Given the description of an element on the screen output the (x, y) to click on. 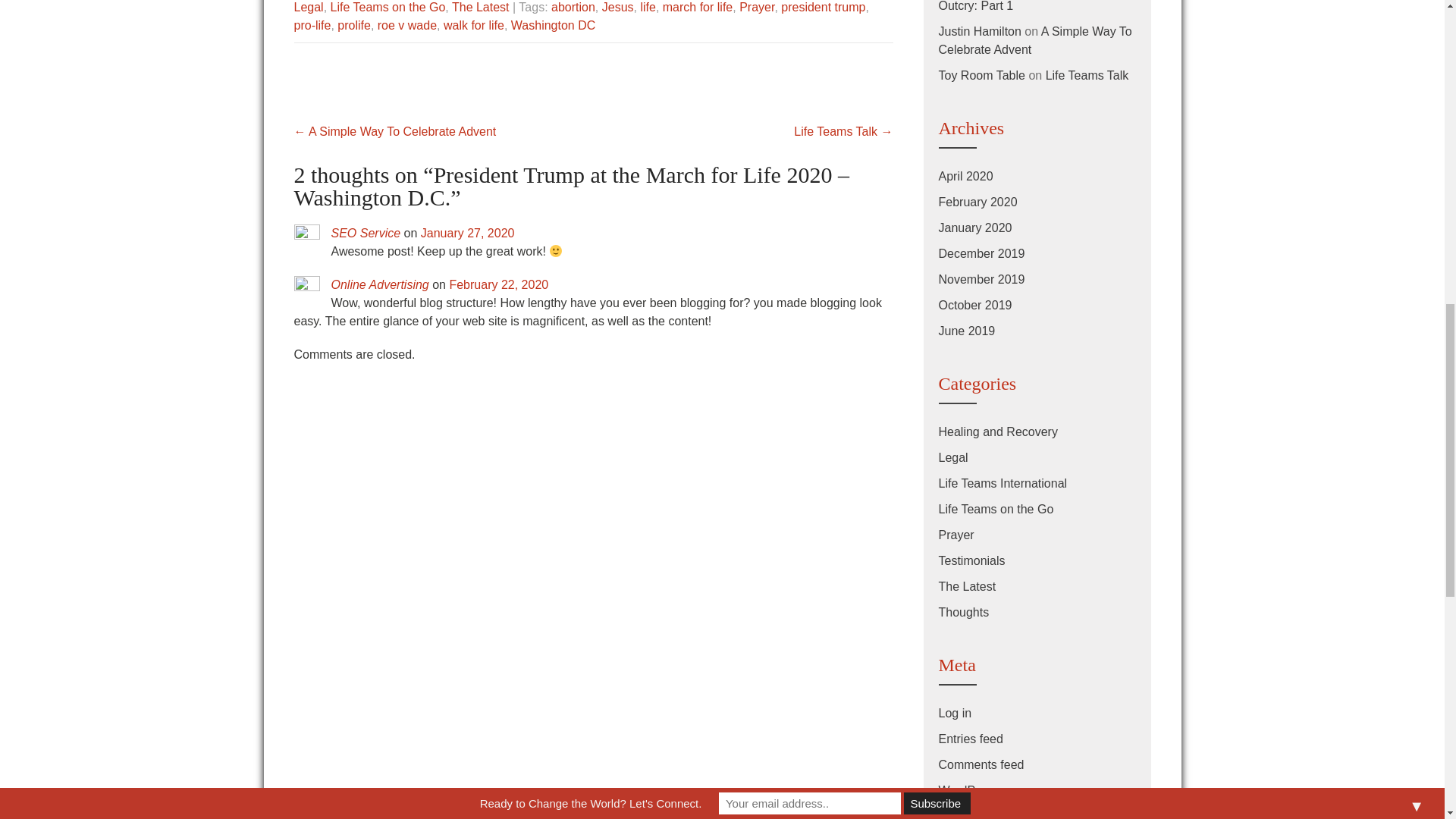
president trump (822, 6)
Legal (308, 6)
march for life (697, 6)
View all posts in The Latest (480, 6)
Jesus (617, 6)
View all posts in Legal (308, 6)
pro-life (312, 24)
prolife (354, 24)
Prayer (756, 6)
The Latest (480, 6)
